Given the description of an element on the screen output the (x, y) to click on. 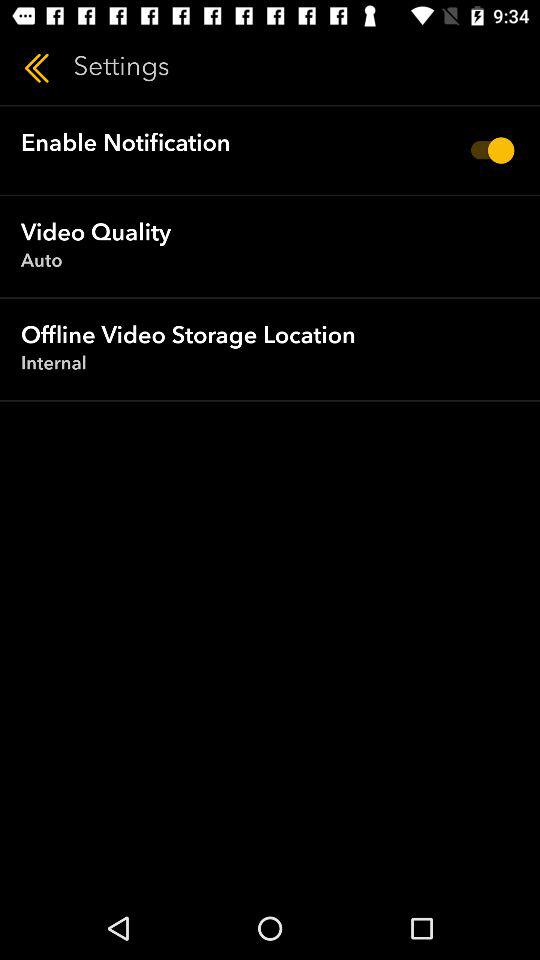
press the icon next to the settings icon (36, 68)
